Given the description of an element on the screen output the (x, y) to click on. 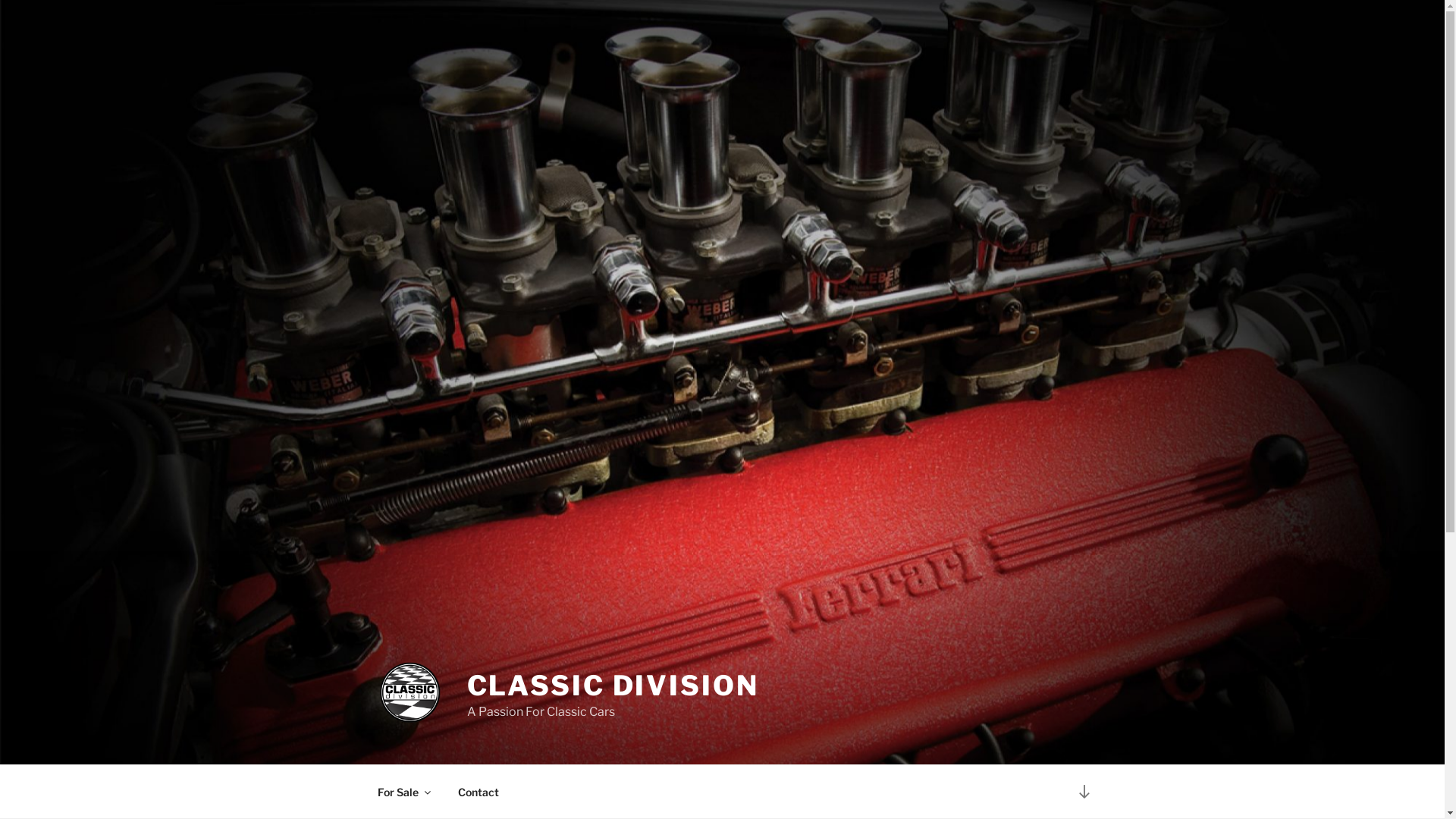
Contact Element type: text (477, 791)
CLASSIC DIVISION Element type: text (613, 685)
Scroll down to content Element type: text (1083, 790)
Skip to content Element type: text (0, 0)
For Sale Element type: text (403, 791)
